Given the description of an element on the screen output the (x, y) to click on. 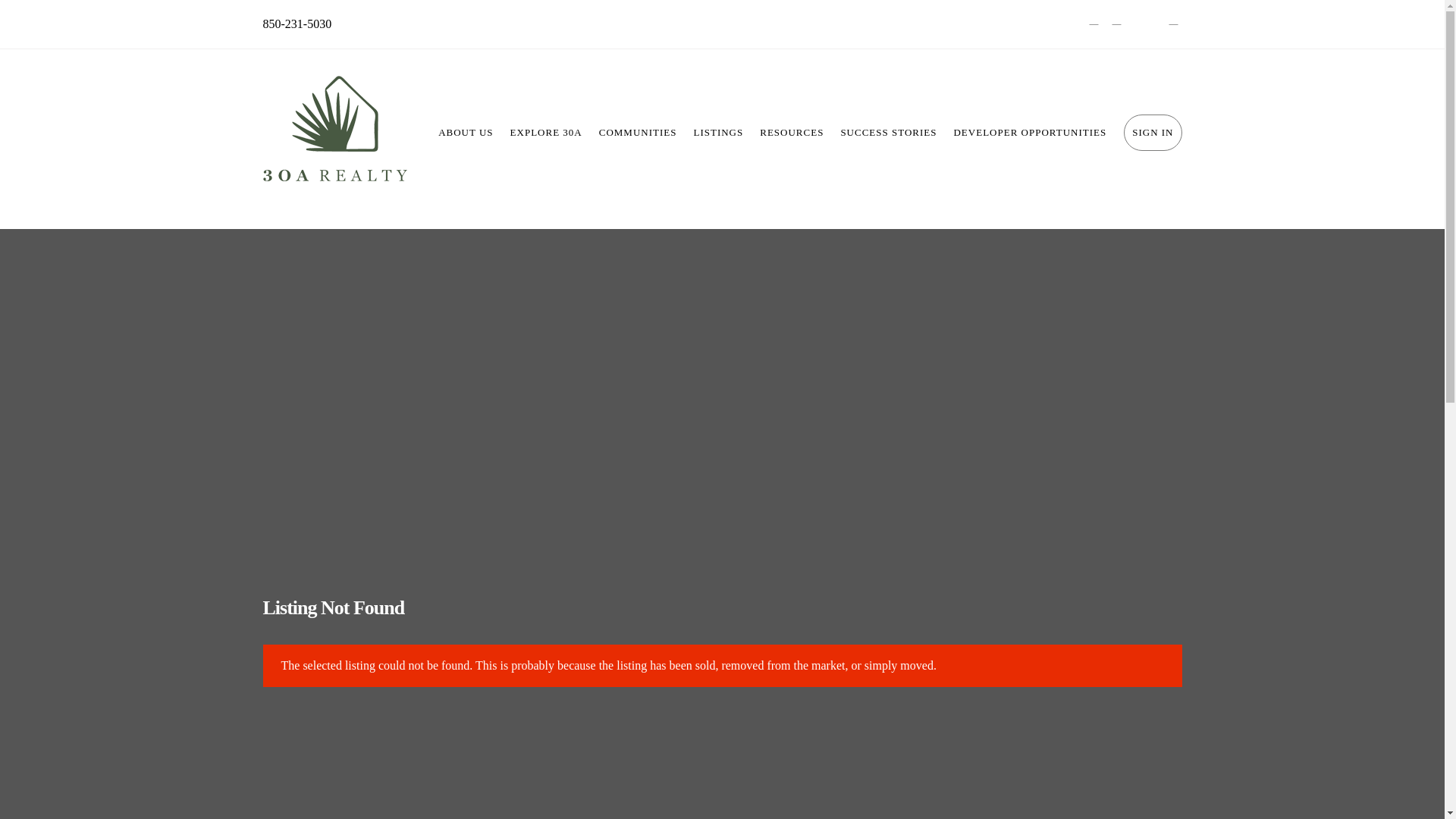
EXPLORE 30A (546, 132)
Site Logo (334, 132)
SUCCESS STORIES (887, 132)
COMMUNITIES (638, 132)
ABOUT US (464, 132)
RESOURCES (791, 132)
850-231-5030 (296, 24)
